Given the description of an element on the screen output the (x, y) to click on. 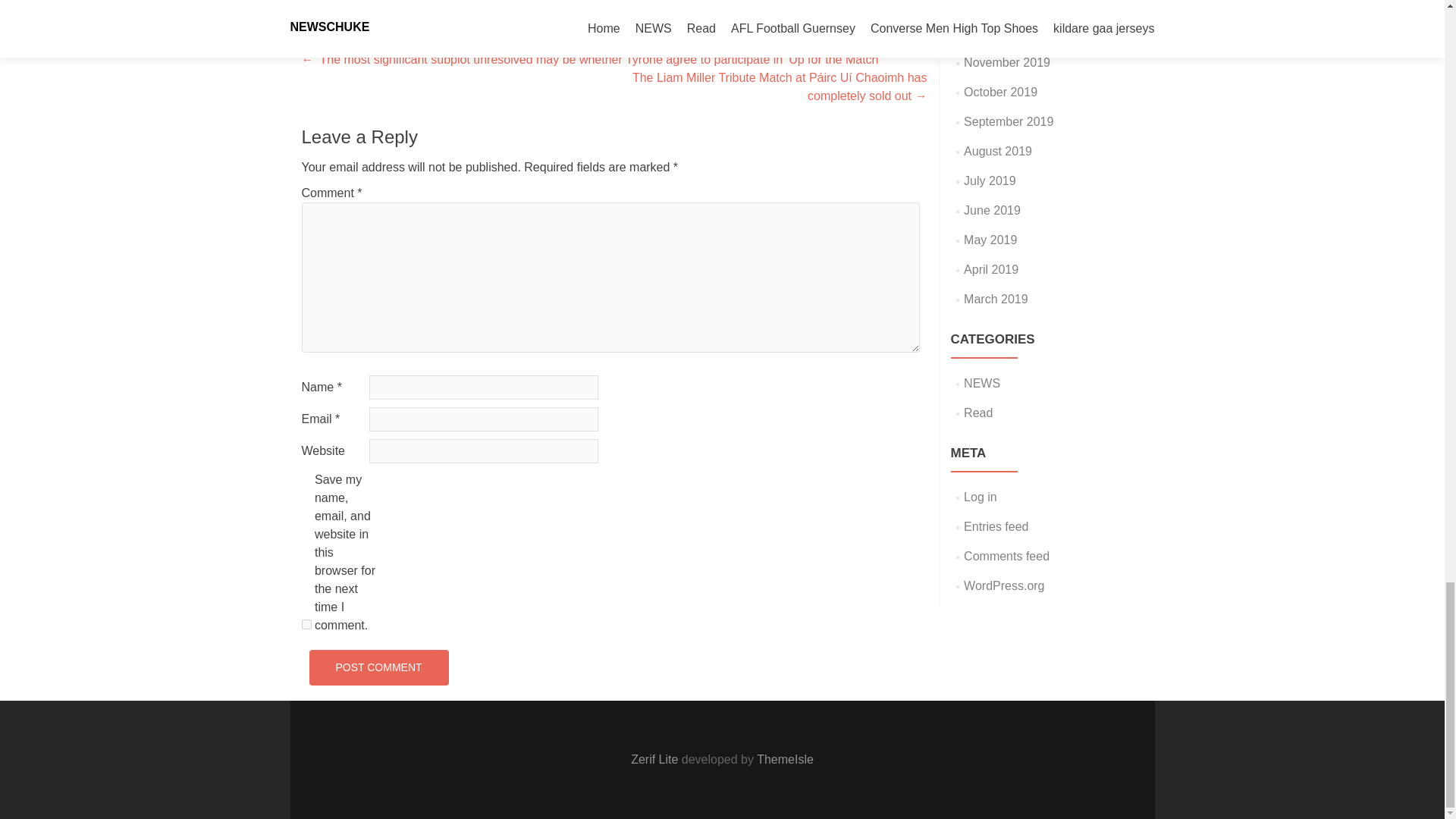
Post Comment (378, 667)
yes (306, 624)
NEWS (453, 0)
permalink (583, 0)
Post Comment (378, 667)
